Given the description of an element on the screen output the (x, y) to click on. 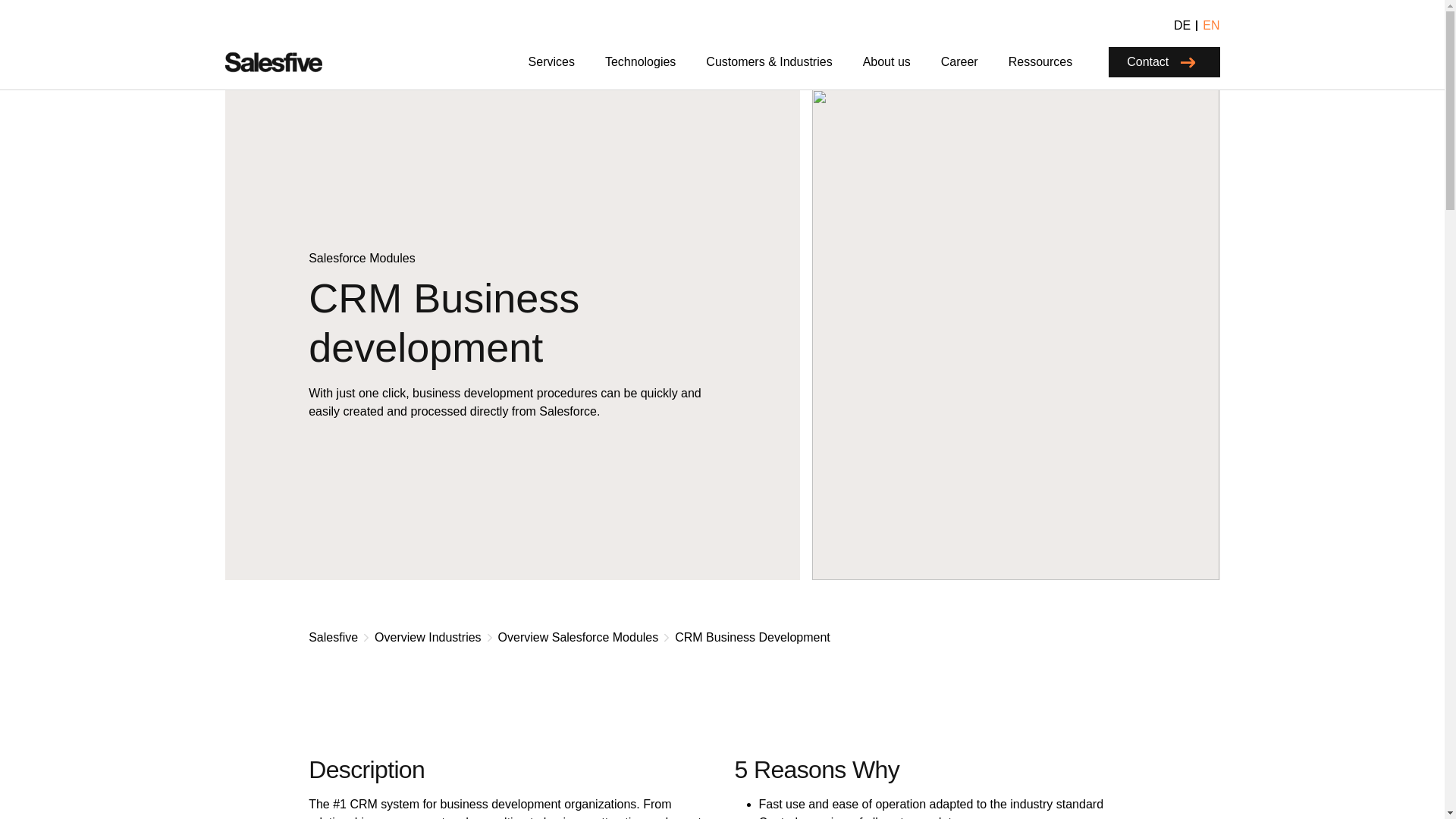
Contact (1164, 61)
Salesfive (272, 61)
DE (1181, 25)
EN (1210, 25)
